Given the description of an element on the screen output the (x, y) to click on. 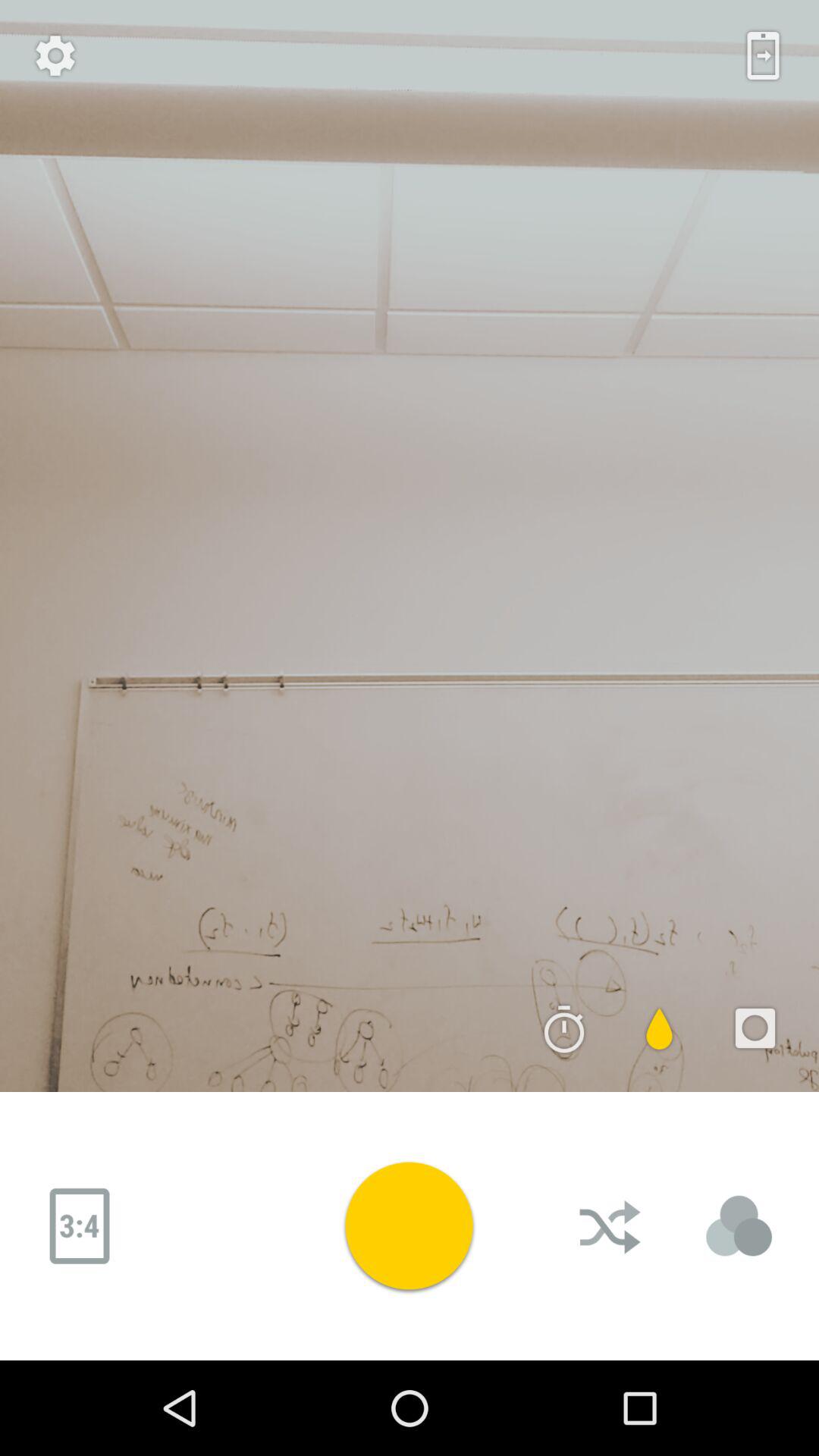
toggle filter (659, 1028)
